Given the description of an element on the screen output the (x, y) to click on. 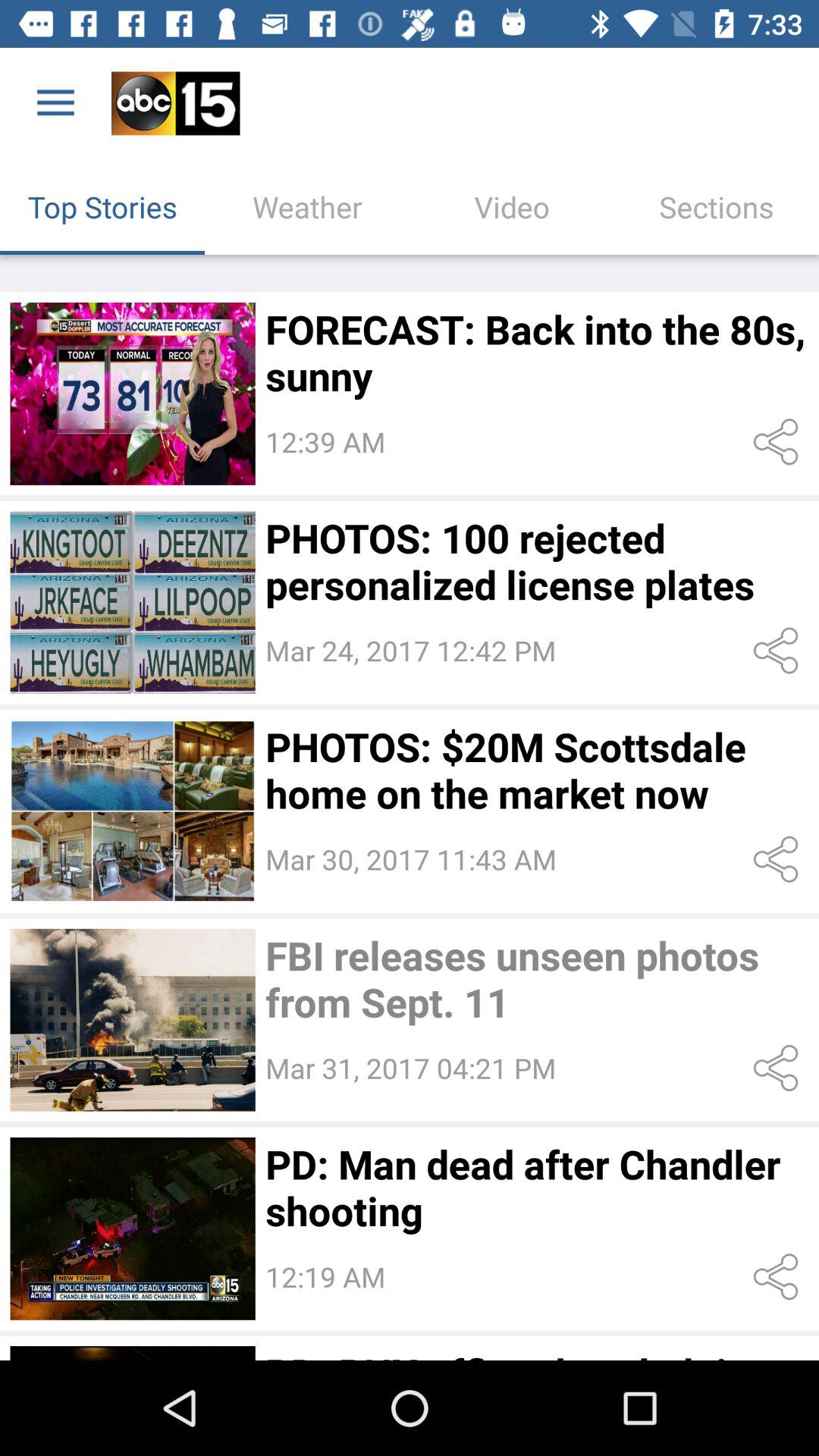
share this story/article (778, 650)
